Given the description of an element on the screen output the (x, y) to click on. 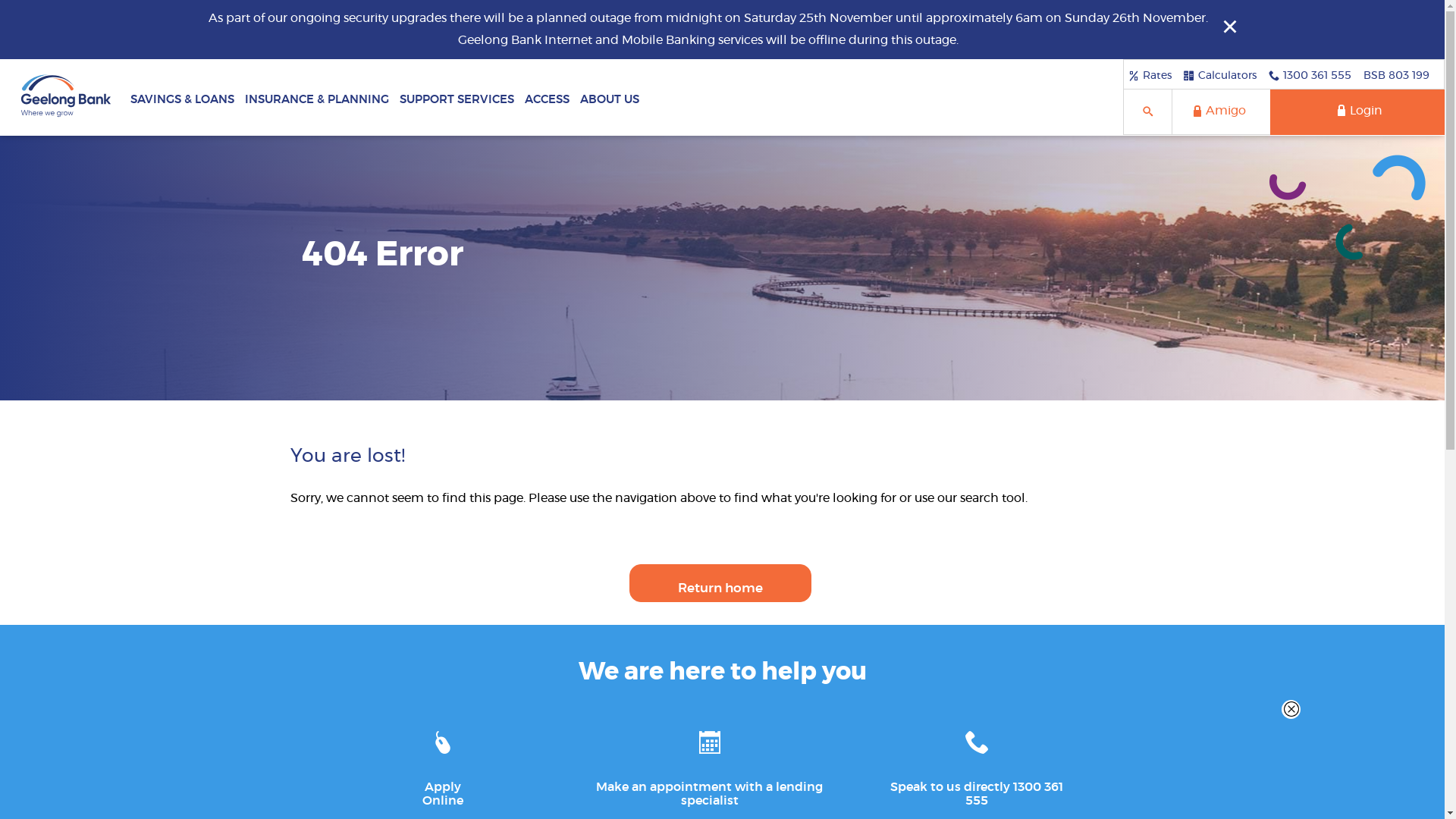
Rates Element type: text (1149, 74)
BSB 803 199 Element type: text (1396, 74)
ABOUT US Element type: text (609, 96)
ACCESS Element type: text (546, 96)
Calculators Element type: text (1219, 74)
Apply Online Element type: text (442, 763)
Return home Element type: text (720, 583)
1300 361 555 Element type: text (1309, 74)
Make an appointment with a lending specialist Element type: text (709, 763)
SAVINGS & LOANS Element type: text (182, 96)
Login Element type: text (1357, 111)
Amigo Element type: text (1220, 111)
SUPPORT SERVICES Element type: text (456, 96)
Yes Element type: text (4, 4)
INSURANCE & PLANNING Element type: text (316, 96)
Speak to us directly 1300 361 555 Element type: text (976, 763)
